Given the description of an element on the screen output the (x, y) to click on. 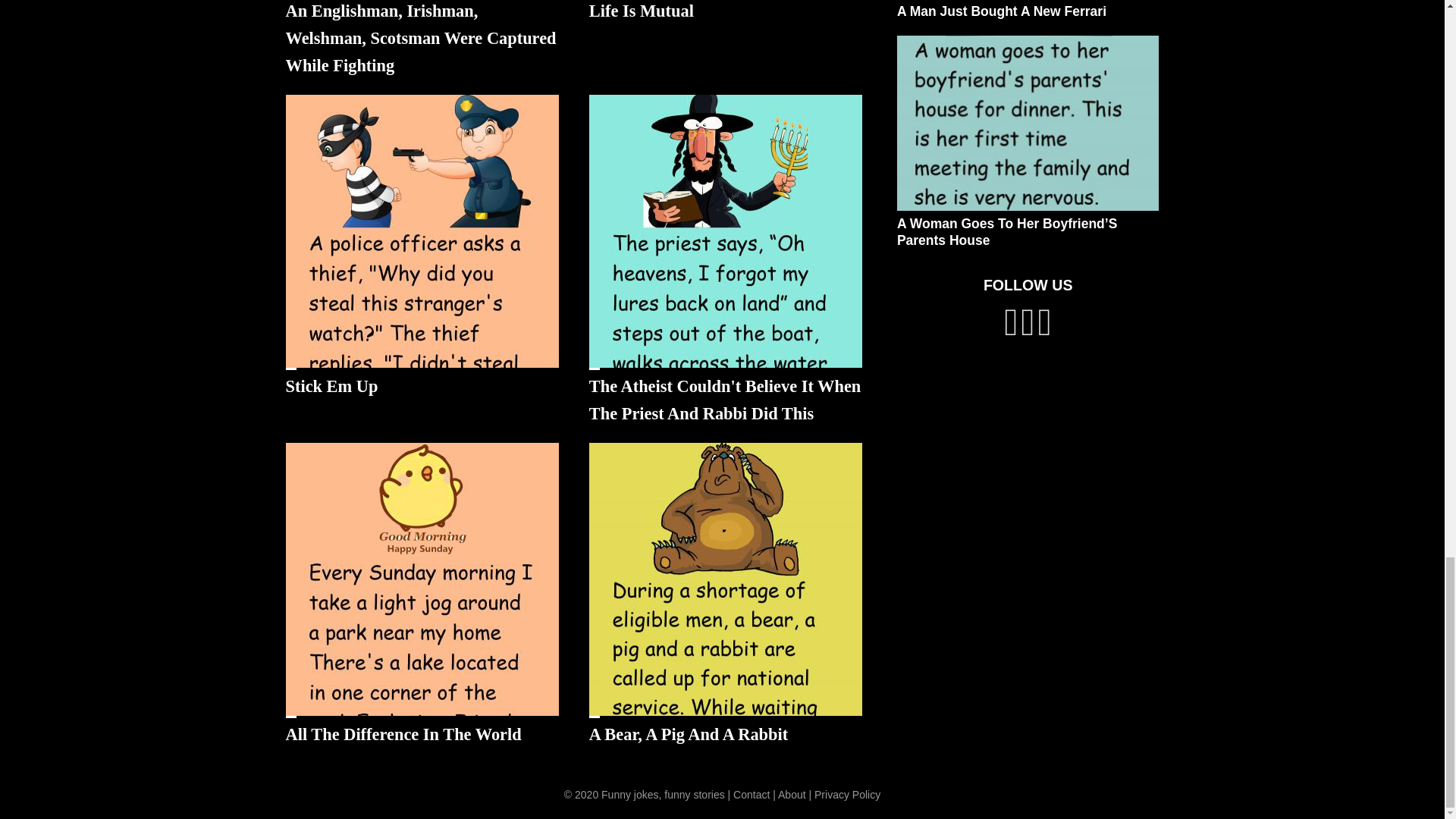
Life Is Mutual (641, 10)
